Given the description of an element on the screen output the (x, y) to click on. 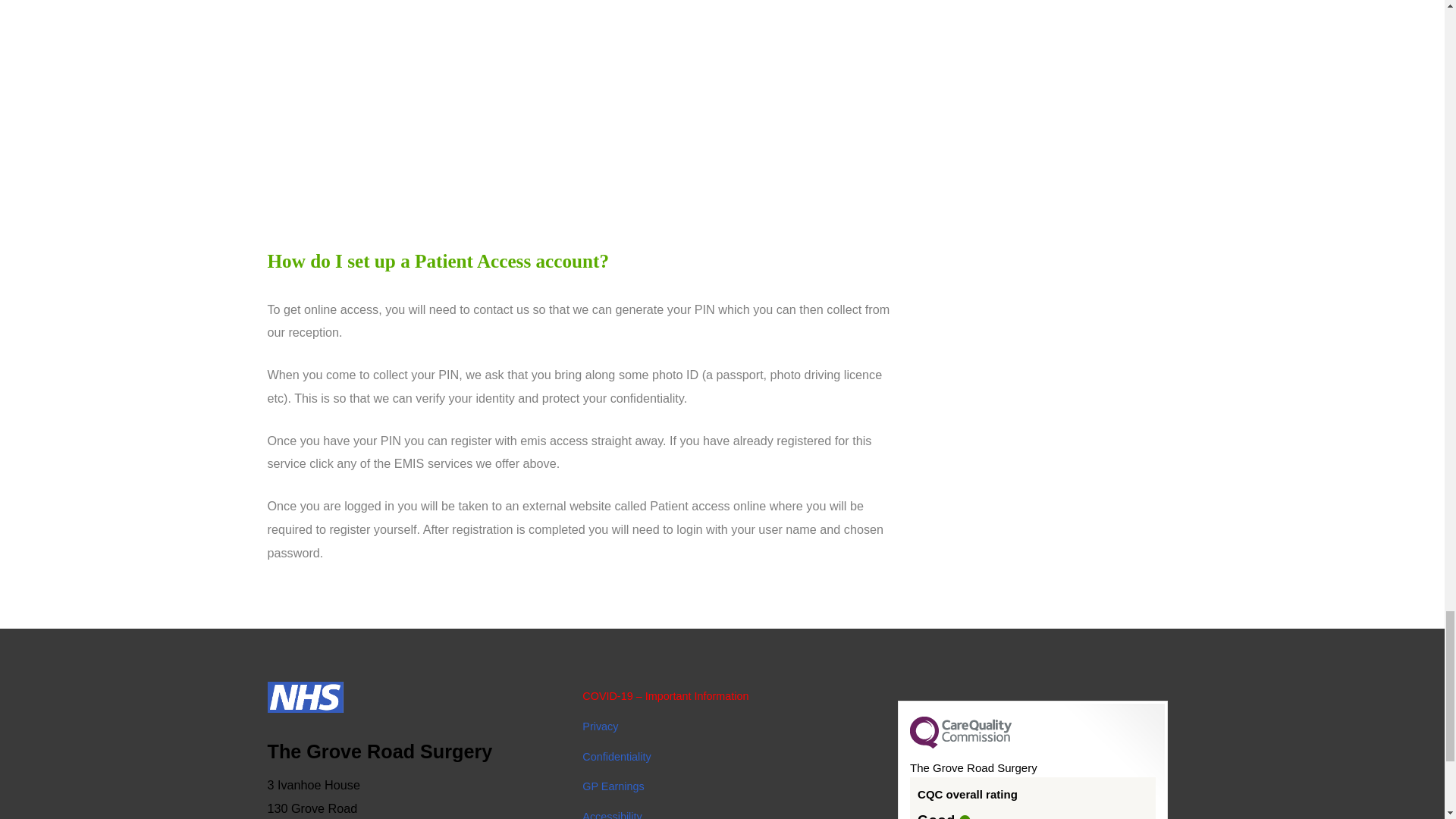
CQC Logo (960, 744)
